Given the description of an element on the screen output the (x, y) to click on. 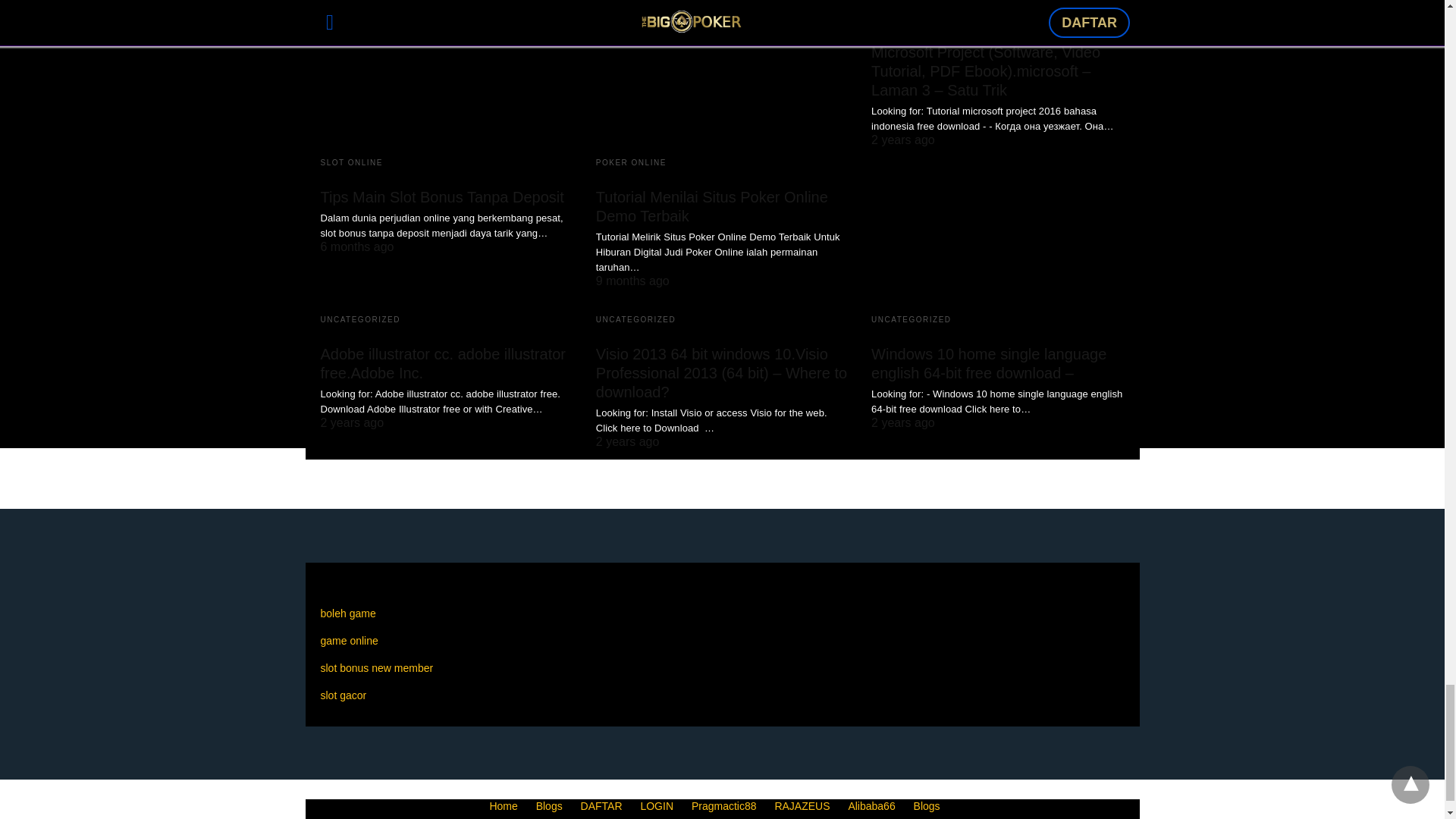
Tutorial Menilai Situs Poker Online Demo Terbaik (721, 76)
boleh game (347, 613)
game online (348, 640)
slot bonus new member (376, 667)
slot gacor (343, 695)
Tips Main Slot Bonus Tanpa Deposit (446, 76)
